Given the description of an element on the screen output the (x, y) to click on. 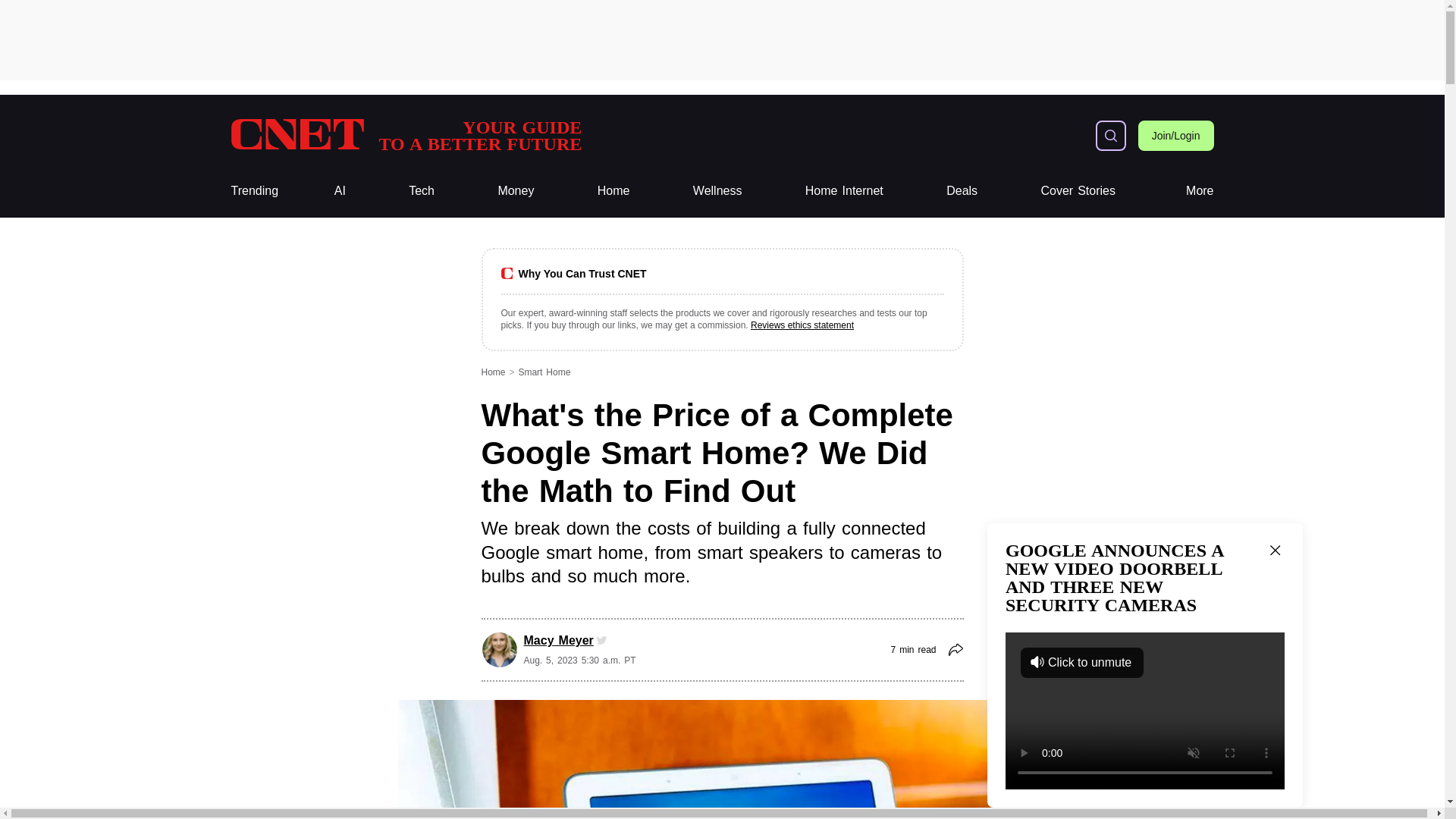
Deals (961, 190)
Tech (421, 190)
Home Internet (844, 190)
More (1199, 190)
Home (613, 190)
Trending (254, 190)
Wellness (405, 135)
CNET (717, 190)
Money (405, 135)
Tech (515, 190)
Wellness (421, 190)
Trending (717, 190)
Cover Stories (254, 190)
Home Internet (1078, 190)
